Given the description of an element on the screen output the (x, y) to click on. 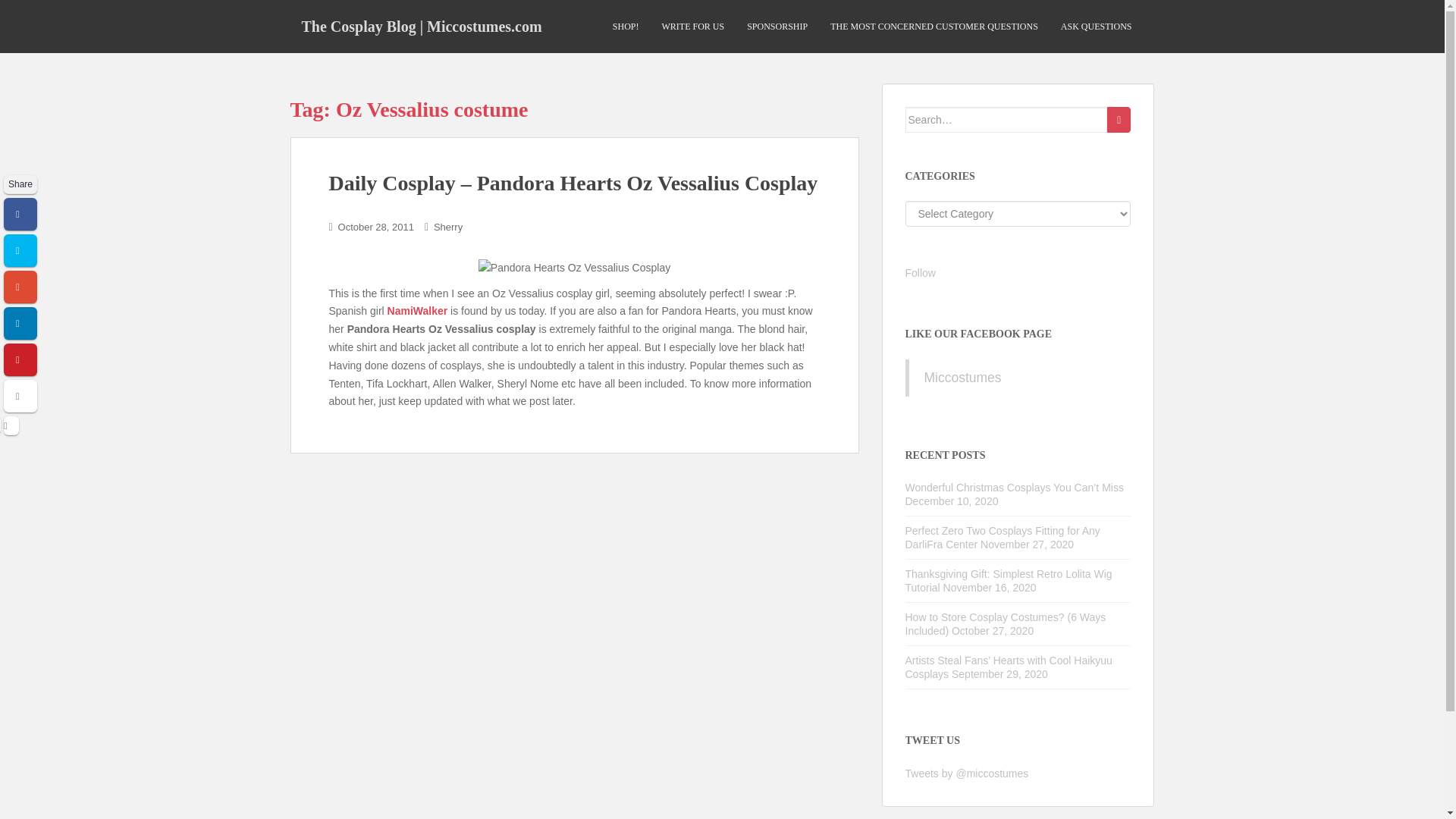
THE MOST CONCERNED CUSTOMER QUESTIONS (933, 26)
October 28, 2011 (375, 226)
NamiWalker (417, 310)
Miccostumes (962, 377)
Perfect Zero Two Cosplays Fitting for Any DarliFra Center (1002, 537)
Search (1118, 119)
SPONSORSHIP (777, 26)
Sherry (448, 226)
Thanksgiving Gift: Simplest Retro Lolita Wig Tutorial (1008, 580)
Search for: (1006, 119)
